Given the description of an element on the screen output the (x, y) to click on. 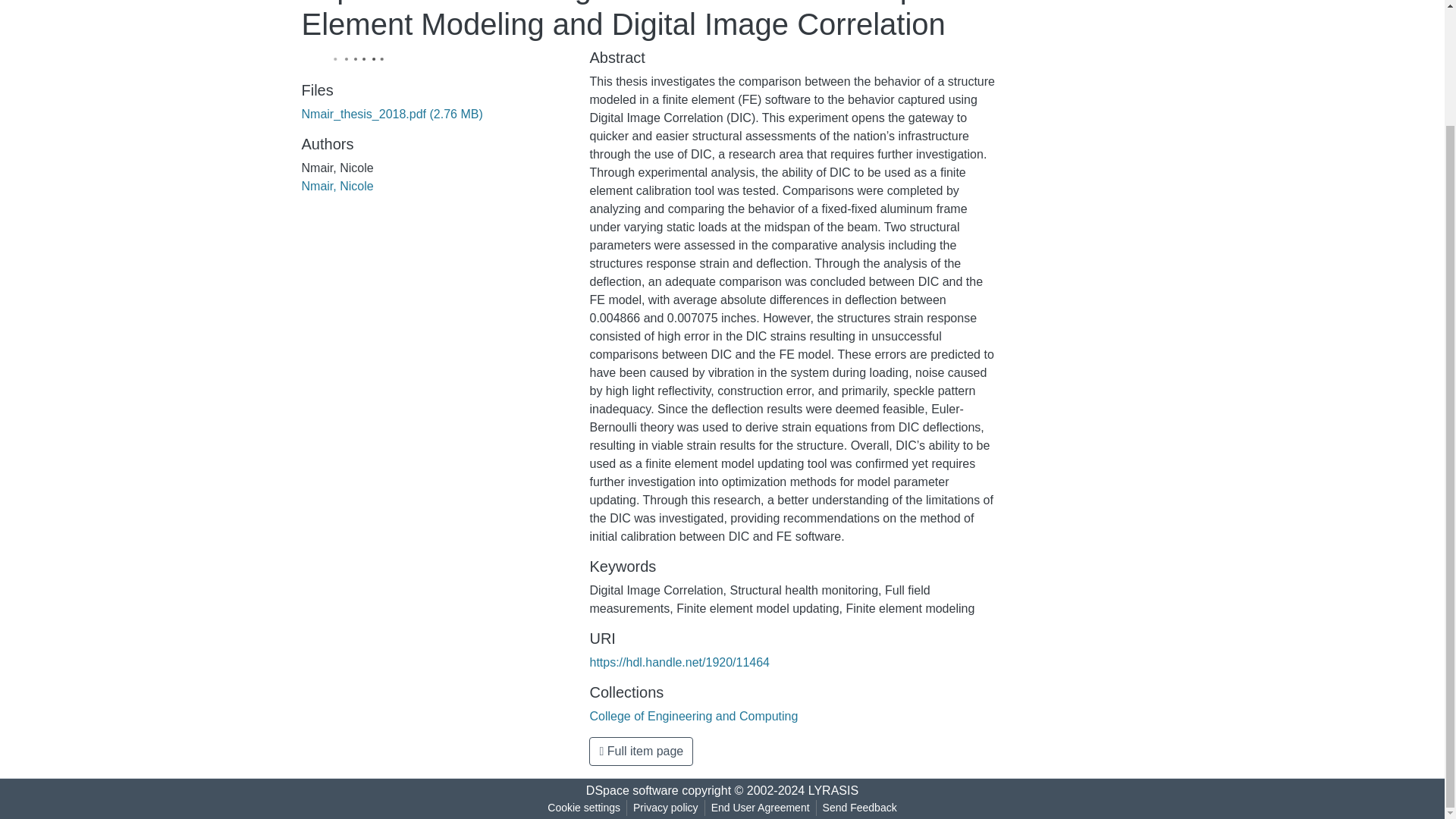
Privacy policy (665, 807)
End User Agreement (759, 807)
College of Engineering and Computing (693, 716)
Full item page (641, 751)
Nmair, Nicole (337, 185)
DSpace software (632, 789)
LYRASIS (833, 789)
Cookie settings (583, 807)
Send Feedback (859, 807)
